Given the description of an element on the screen output the (x, y) to click on. 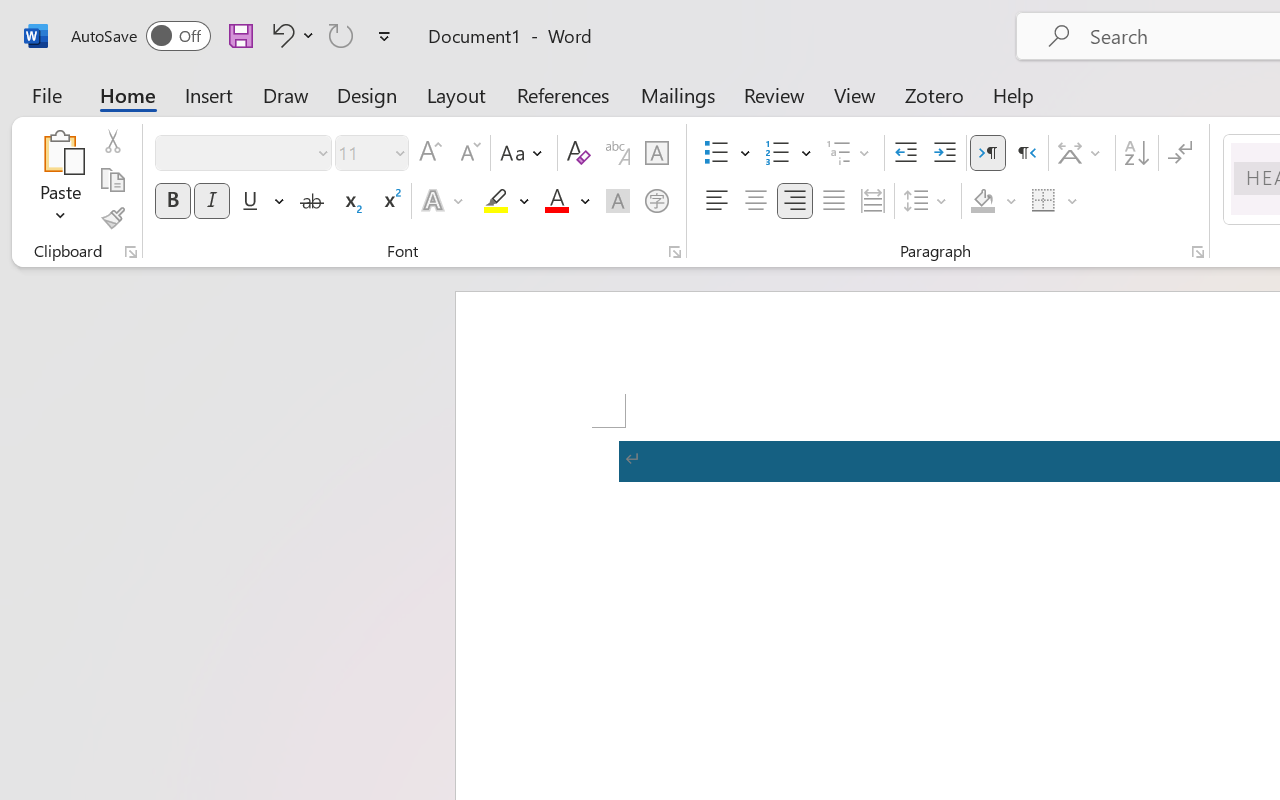
Undo (280, 35)
Can't Repeat (341, 35)
